Given the description of an element on the screen output the (x, y) to click on. 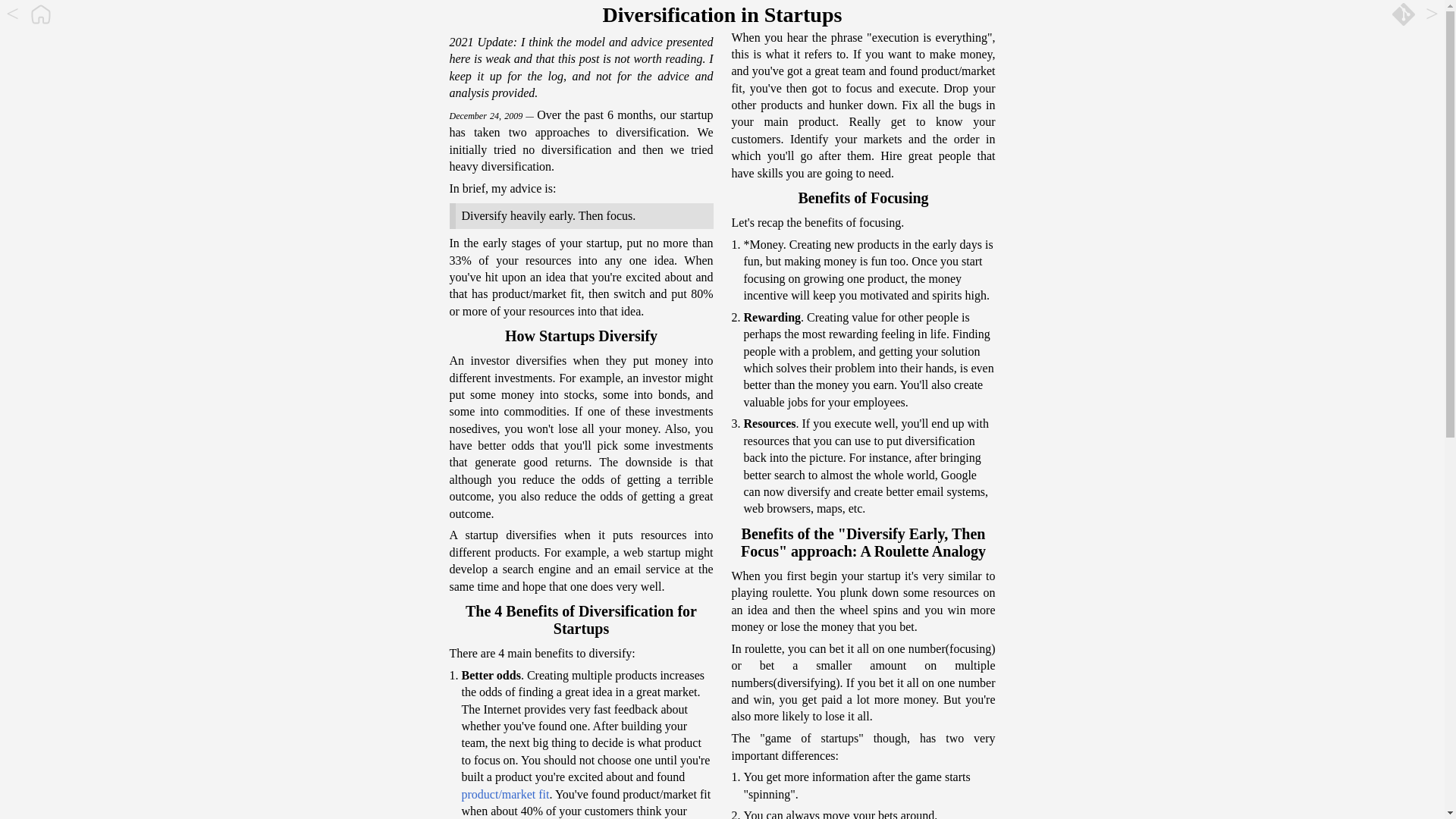
Diversification in Startups (722, 14)
The 4 Benefits of Diversification for Startups (580, 620)
Benefits of Focusing (862, 198)
Diversification in Startups (722, 15)
